Given the description of an element on the screen output the (x, y) to click on. 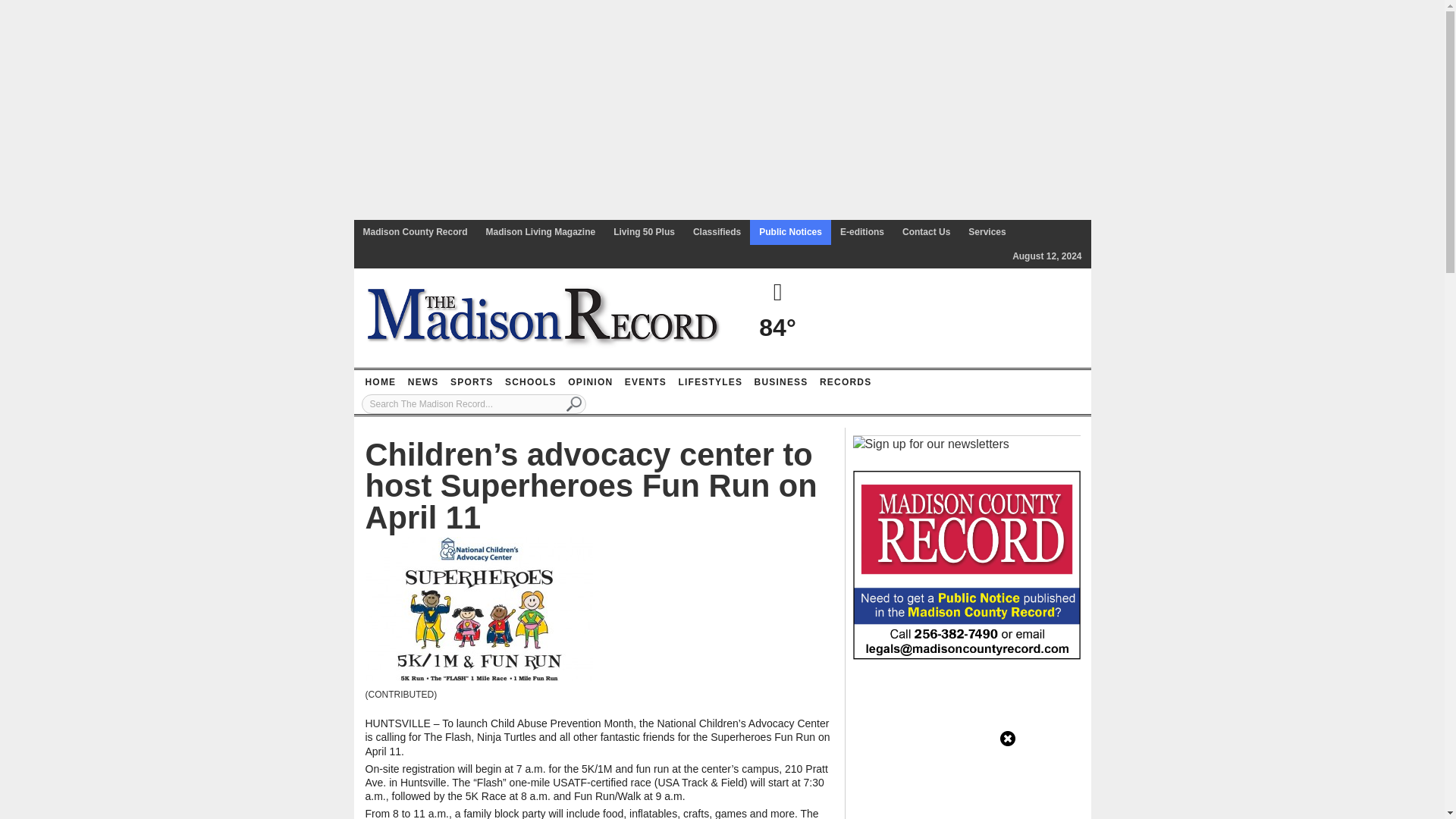
Search The Madison Record... (473, 403)
OPINION (589, 381)
Go (574, 403)
Get Legals or Public Notices Published (965, 563)
LIFESTYLES (709, 381)
Contact Us (926, 232)
EVENTS (645, 381)
HOME (379, 381)
BUSINESS (781, 381)
